Given the description of an element on the screen output the (x, y) to click on. 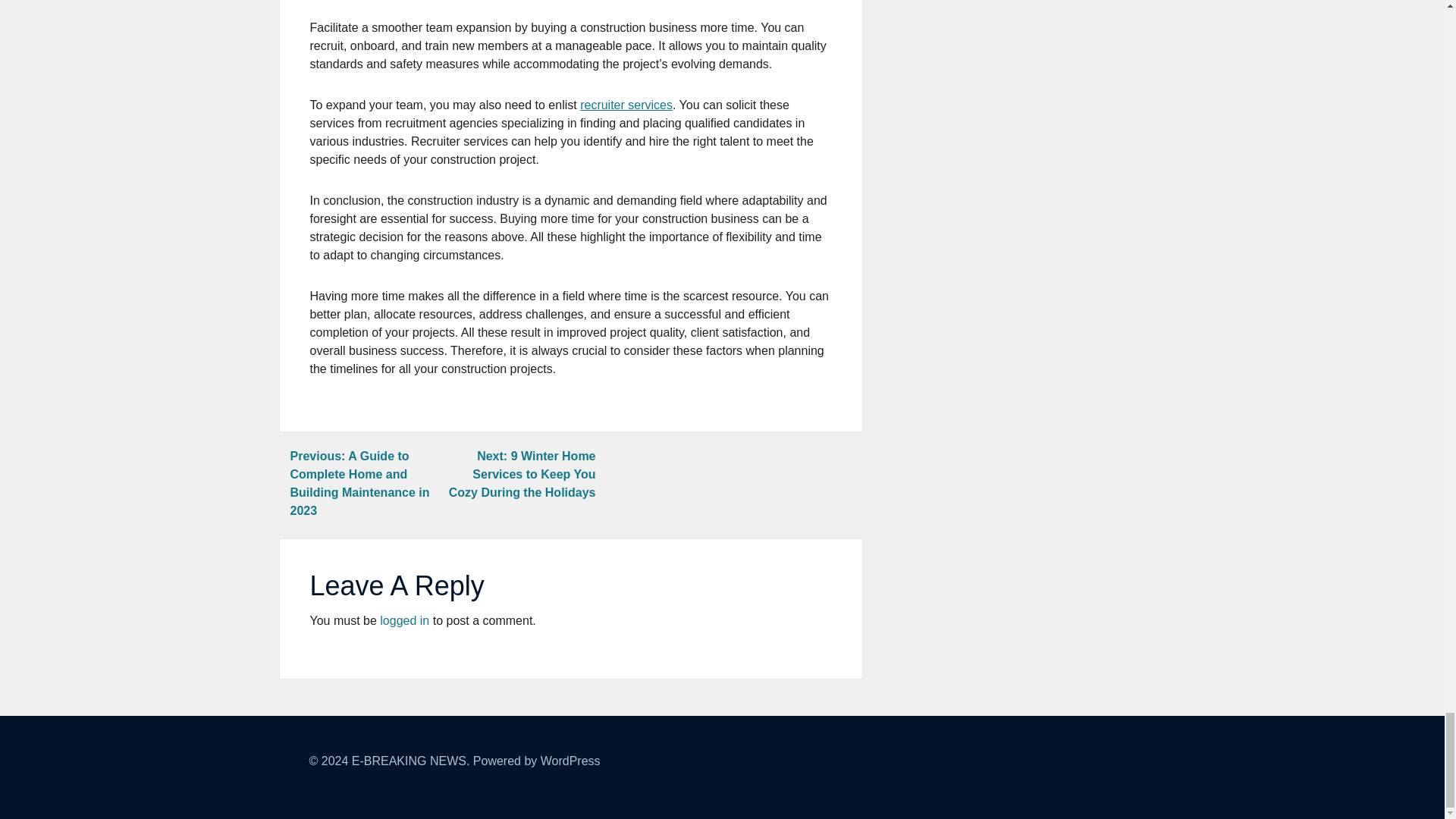
logged in (404, 620)
recruiter services (625, 104)
